Given the description of an element on the screen output the (x, y) to click on. 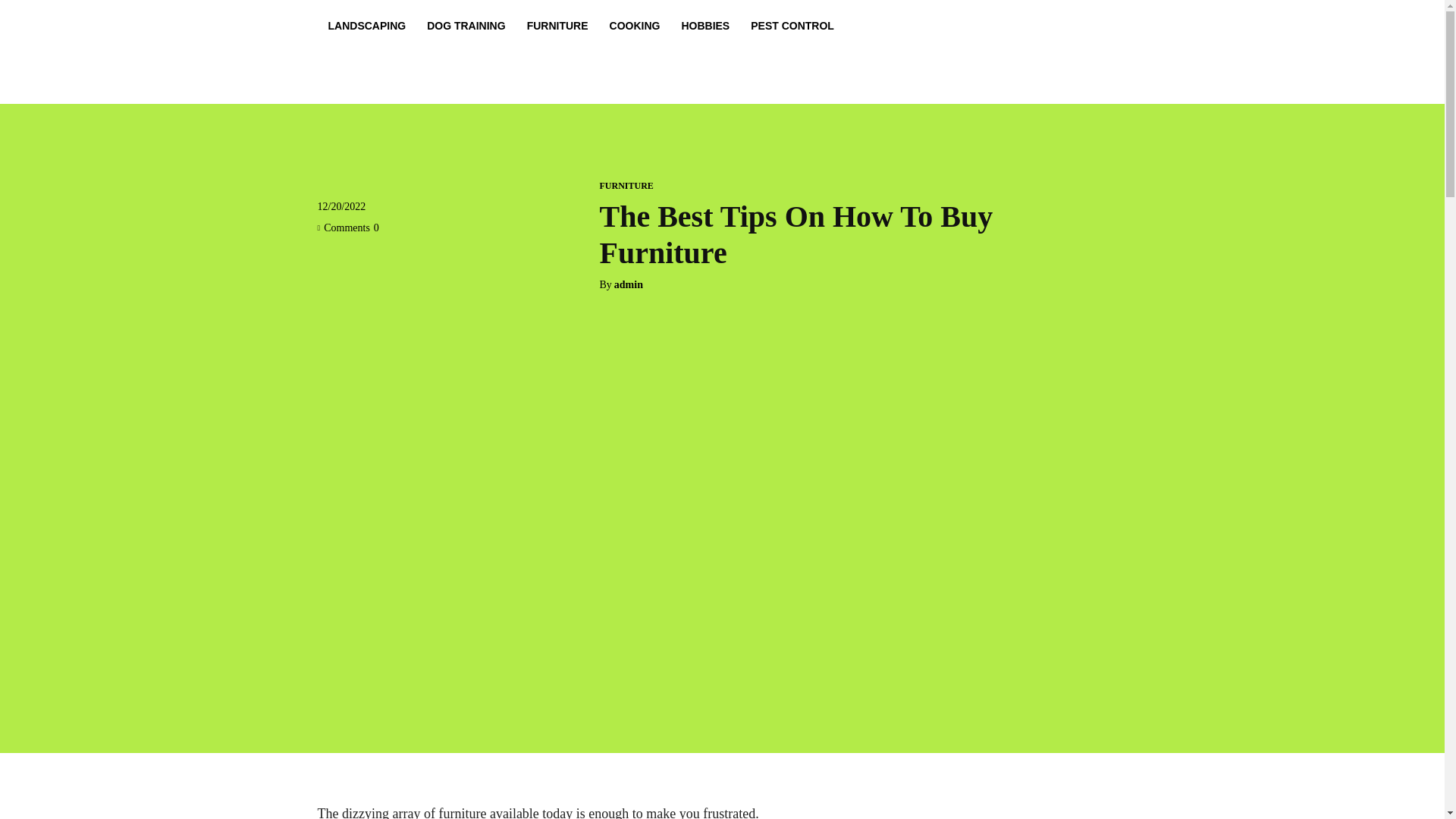
admin (628, 285)
PEST CONTROL (791, 25)
DOG TRAINING (465, 25)
COOKING (634, 25)
Comments0 (347, 227)
HOBBIES (704, 25)
FURNITURE (625, 185)
FURNITURE (557, 25)
LANDSCAPING (366, 25)
